Given the description of an element on the screen output the (x, y) to click on. 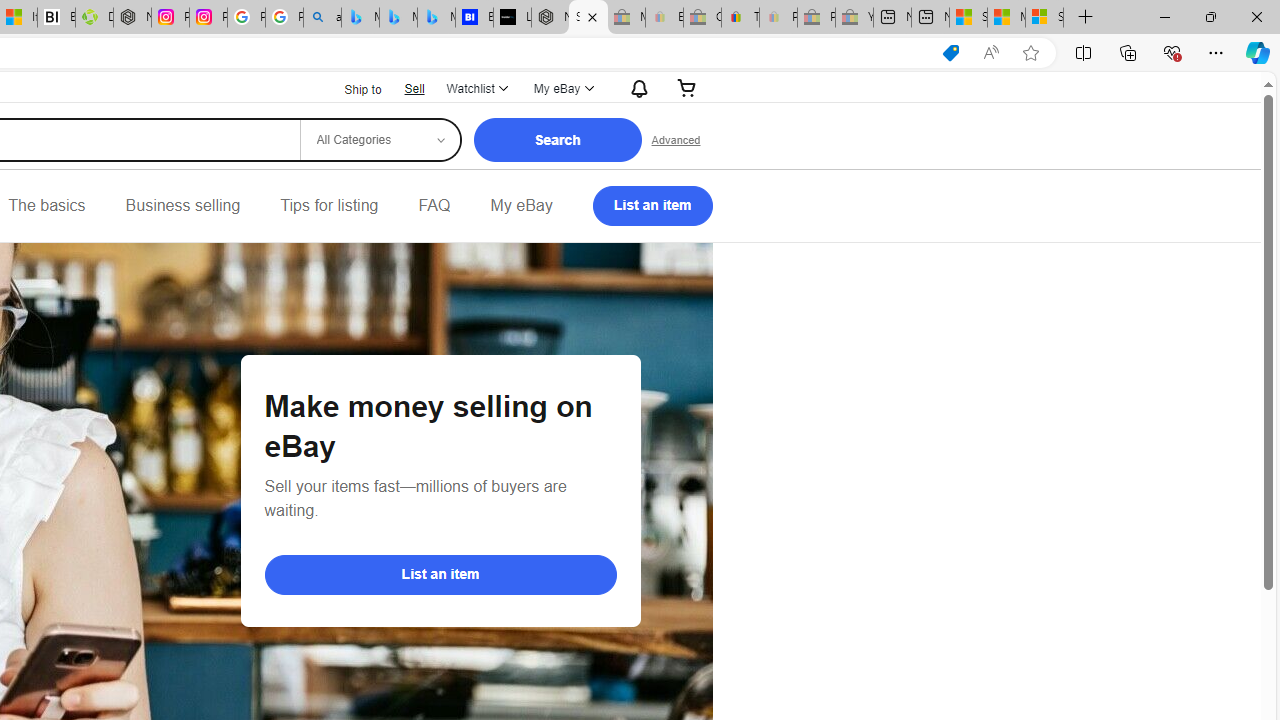
Tips for listing (329, 205)
My eBay (521, 205)
alabama high school quarterback dies - Search (321, 17)
FAQ (434, 205)
Select a category for search (379, 139)
Ship to (349, 88)
Nordace - Nordace Edin Collection (132, 17)
My eBayExpand My eBay (562, 88)
Business selling (182, 205)
Payments Terms of Use | eBay.com - Sleeping (778, 17)
